Given the description of an element on the screen output the (x, y) to click on. 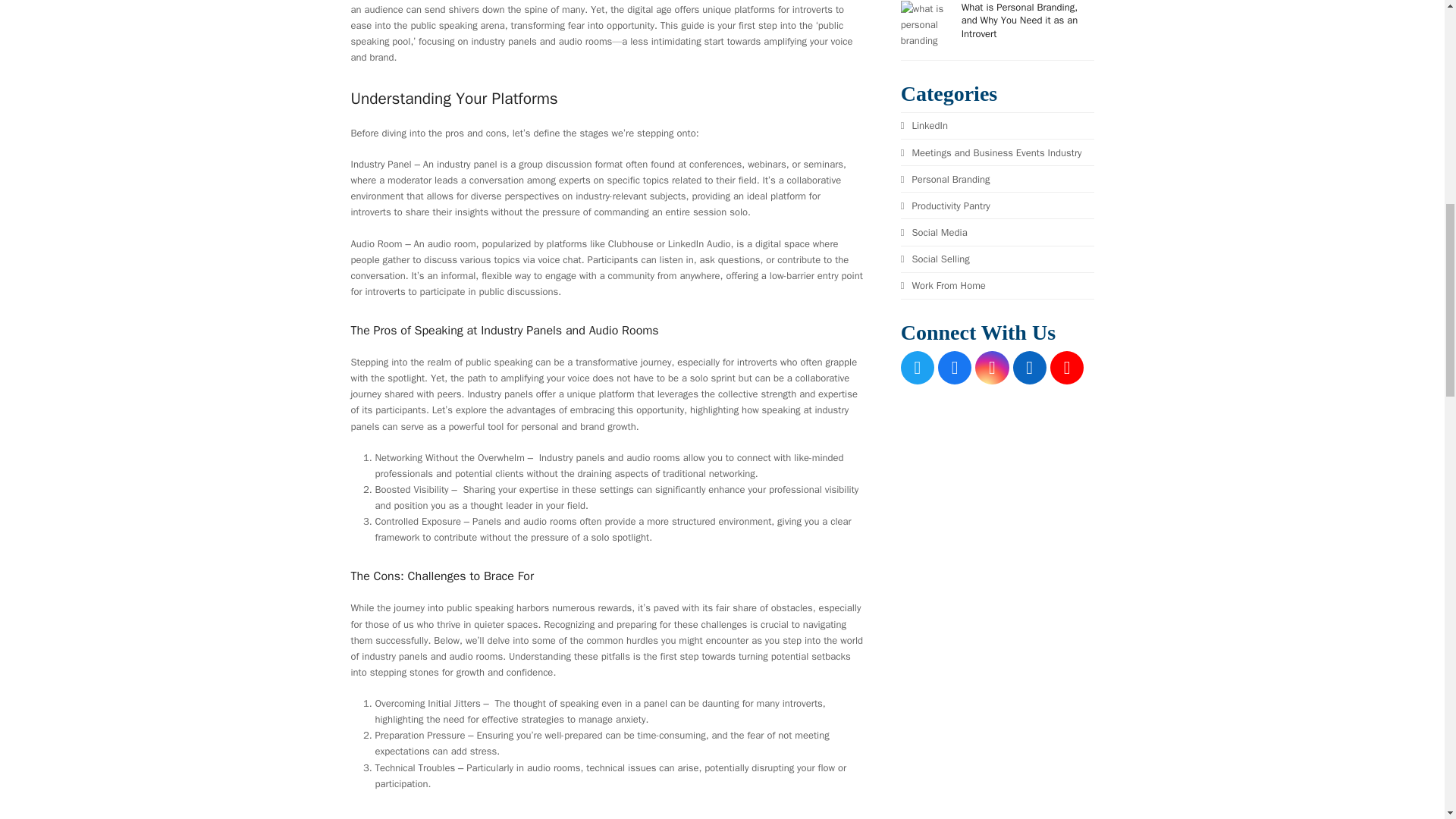
YouTube (1066, 367)
Instagram (992, 367)
Twitter (917, 367)
LinkedIn (1029, 367)
Facebook (954, 367)
